Given the description of an element on the screen output the (x, y) to click on. 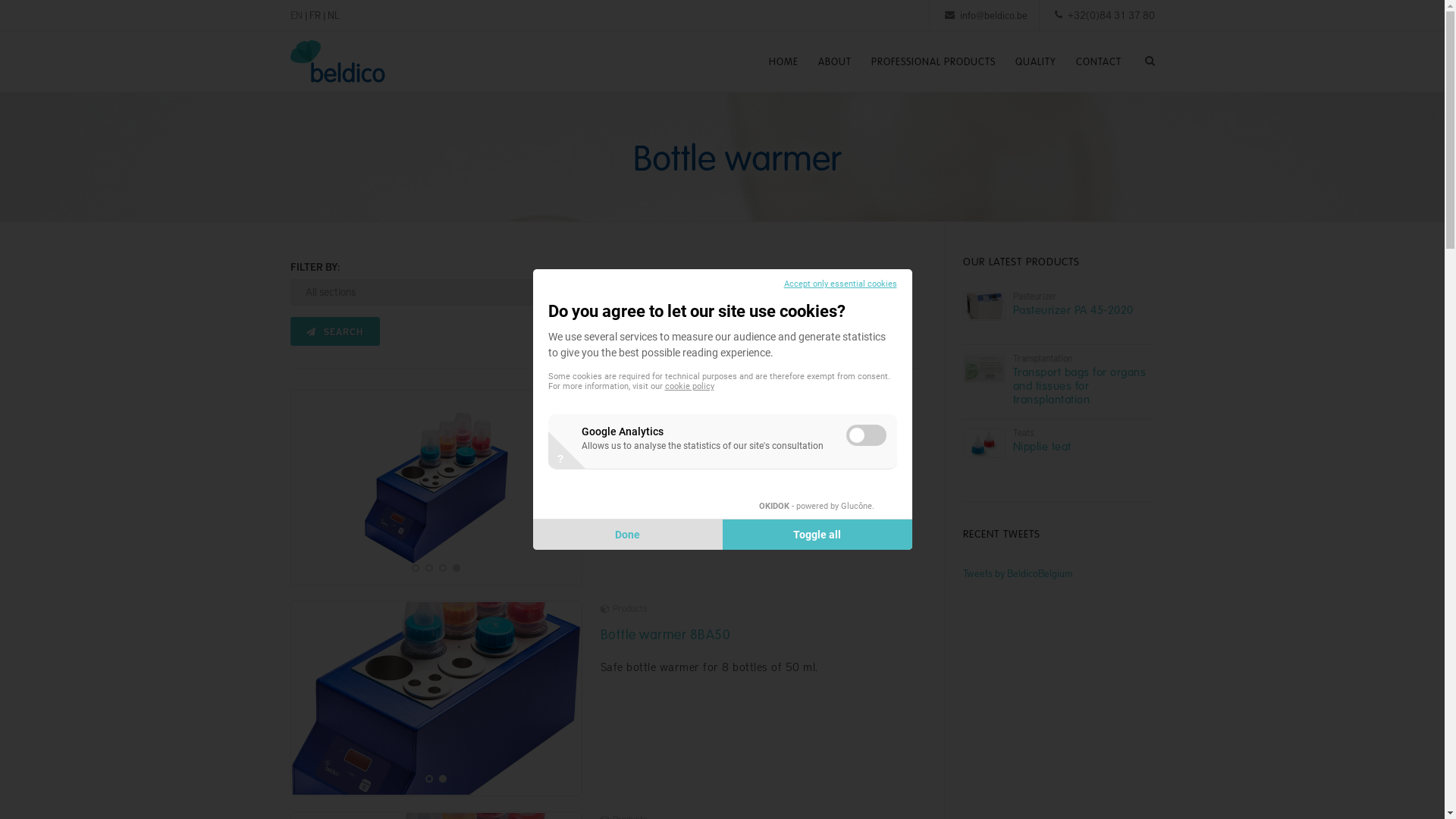
Products Element type: text (623, 608)
PROFESSIONAL PRODUCTS Element type: text (933, 61)
ABOUT Element type: text (834, 61)
? Element type: text (560, 458)
Products Element type: text (623, 397)
Accept only essential cookies Element type: text (840, 283)
info@beldico.be Element type: text (993, 14)
Toggle all Element type: text (816, 534)
Nipplie teat Element type: text (1042, 445)
Tweets by BeldicoBelgium Element type: text (1017, 573)
QUALITY Element type: text (1035, 61)
cookie policy Element type: text (688, 386)
NL Element type: text (333, 14)
FR Element type: text (314, 14)
Transport bags for organs and tissues for transplantation Element type: text (1079, 385)
 SEARCH Element type: text (334, 330)
Done Element type: text (626, 534)
Pasteurizer PA 45-2020 Element type: text (1073, 308)
+32(0)84 31 37 80 Element type: text (1110, 14)
HOME Element type: text (782, 61)
CONTACT Element type: text (1098, 61)
